Given the description of an element on the screen output the (x, y) to click on. 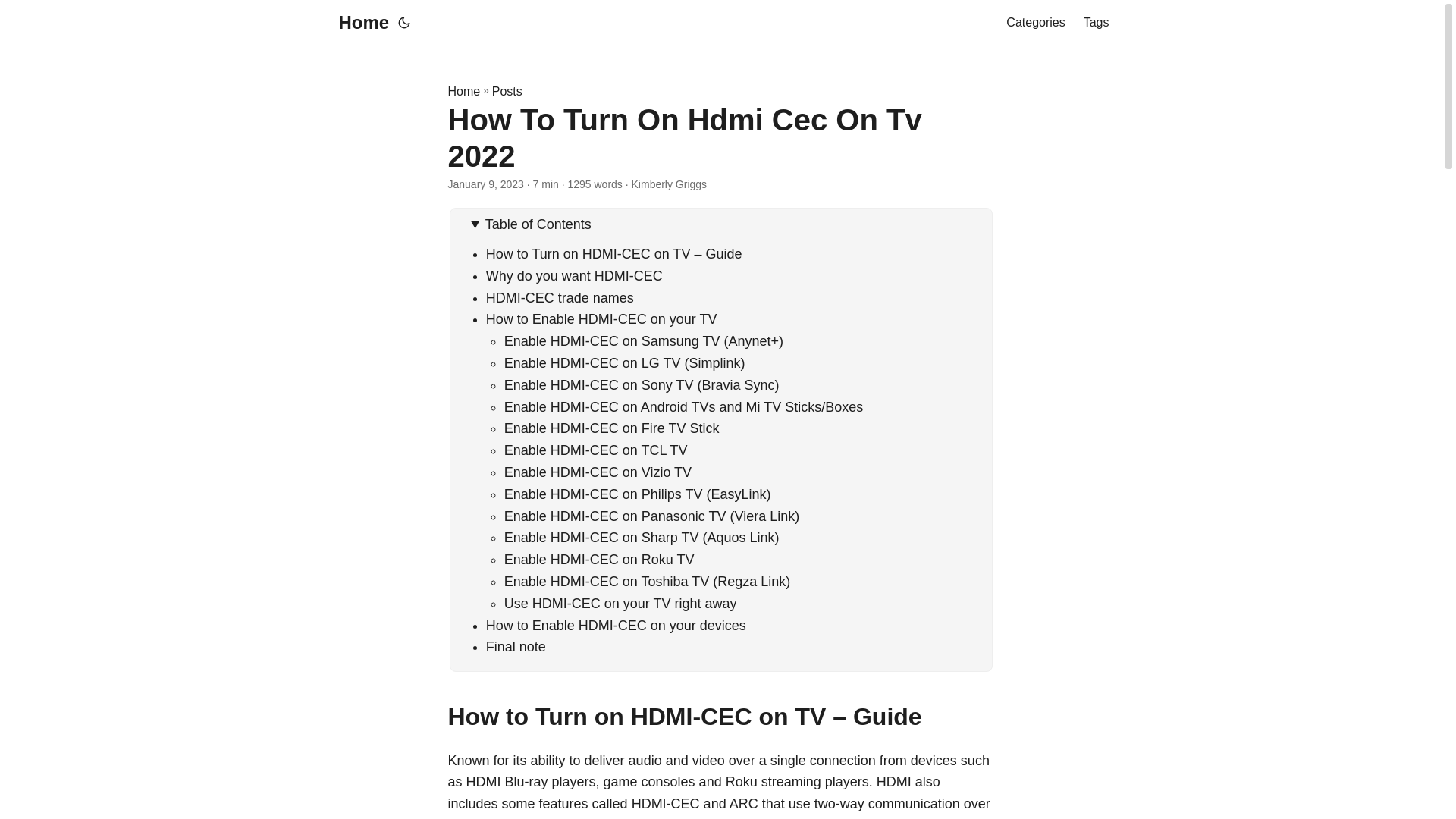
Enable HDMI-CEC on Roku TV (598, 559)
Home (359, 22)
Enable HDMI-CEC on Fire TV Stick (611, 427)
How to Enable HDMI-CEC on your devices (615, 625)
Enable HDMI-CEC on Vizio TV (597, 472)
Posts (507, 91)
Final note (516, 646)
Use HDMI-CEC on your TV right away (619, 603)
Categories (1035, 22)
HDMI-CEC trade names (559, 297)
Enable HDMI-CEC on TCL TV (595, 450)
How to Enable HDMI-CEC on your TV (601, 319)
Why do you want HDMI-CEC (574, 275)
Home (463, 91)
Categories (1035, 22)
